Given the description of an element on the screen output the (x, y) to click on. 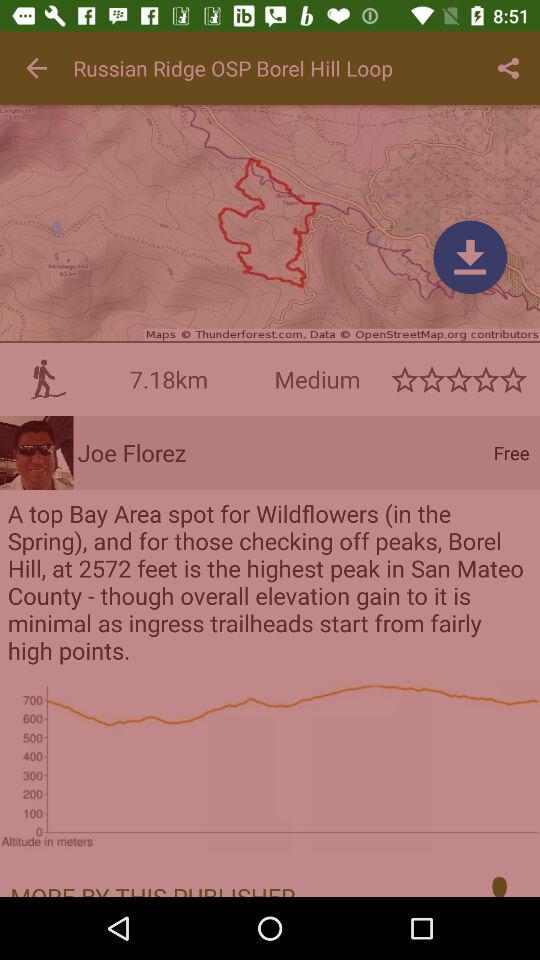
turn off the icon next to the russian ridge osp item (36, 68)
